Given the description of an element on the screen output the (x, y) to click on. 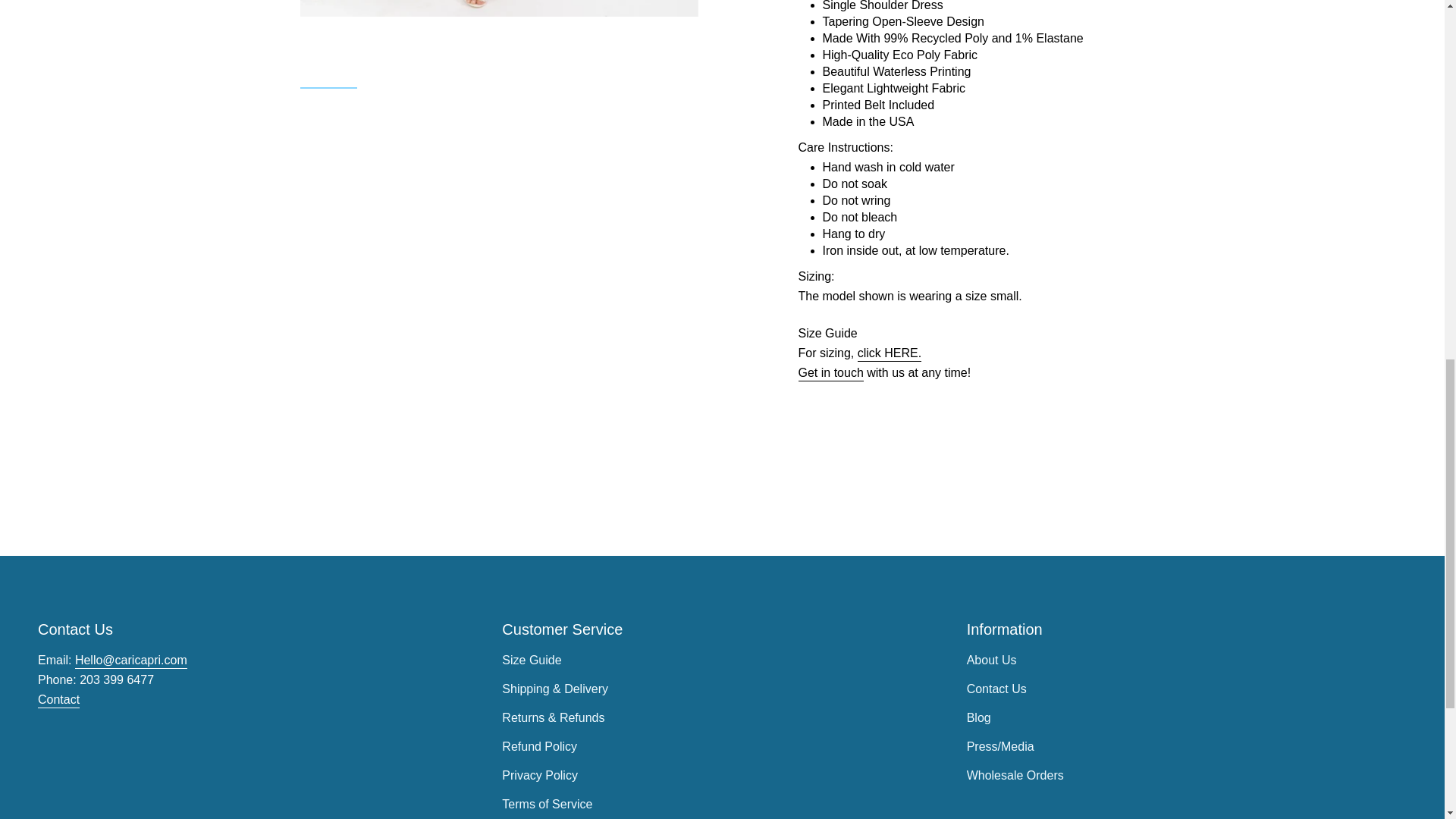
Contact (58, 701)
Contact (830, 374)
Size Guide (889, 354)
